Given the description of an element on the screen output the (x, y) to click on. 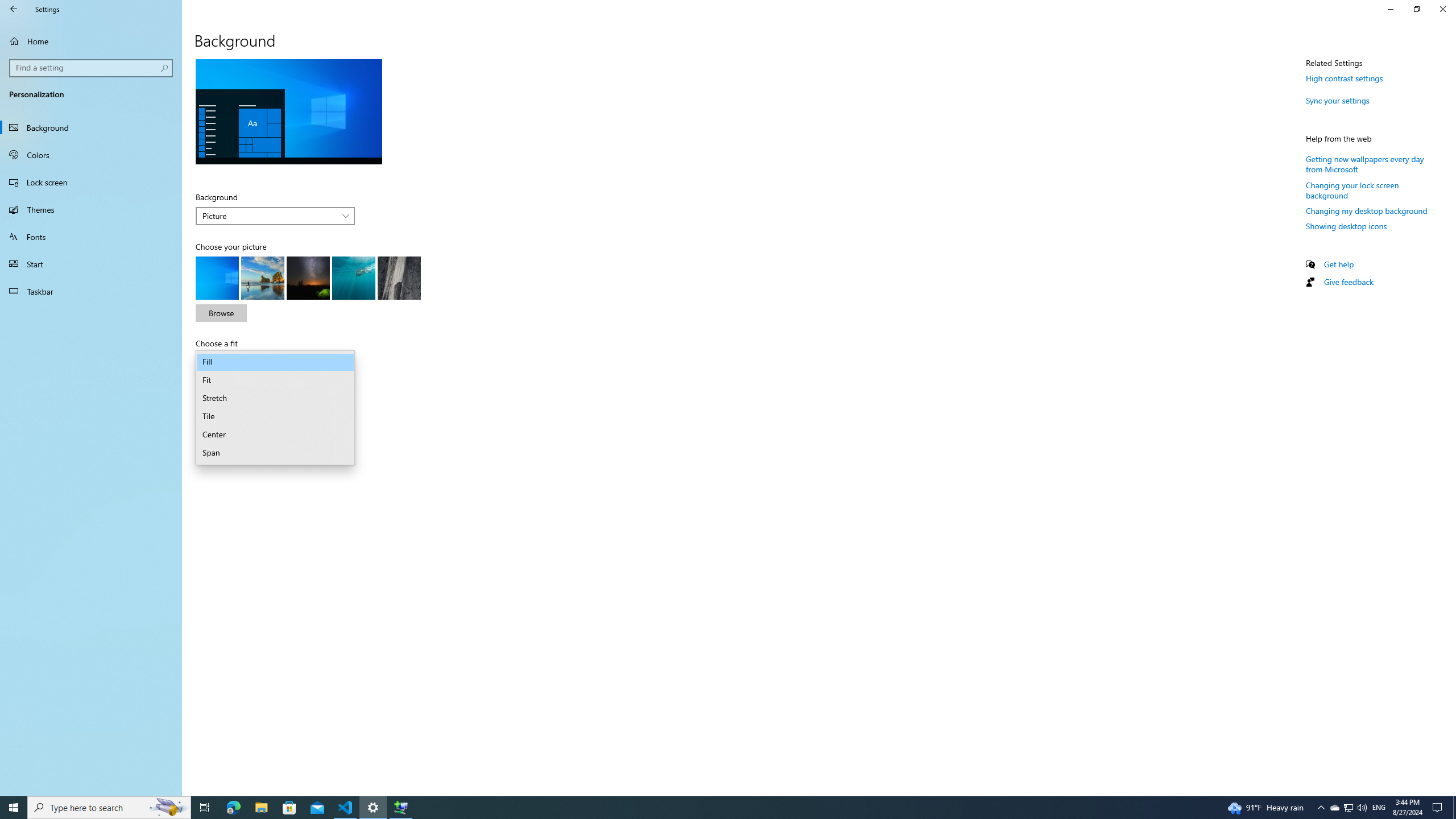
Windows Spotlight Image (398, 277)
Background (91, 126)
Fonts (91, 236)
Minimize Settings (1390, 9)
Search box, Find a setting (91, 67)
Get help (1338, 263)
Back (13, 9)
Visual Studio Code - 1 running window (345, 807)
Showing desktop icons (1346, 225)
Changing your lock screen background (1352, 189)
Lock screen (1333, 807)
Browse (91, 181)
